Given the description of an element on the screen output the (x, y) to click on. 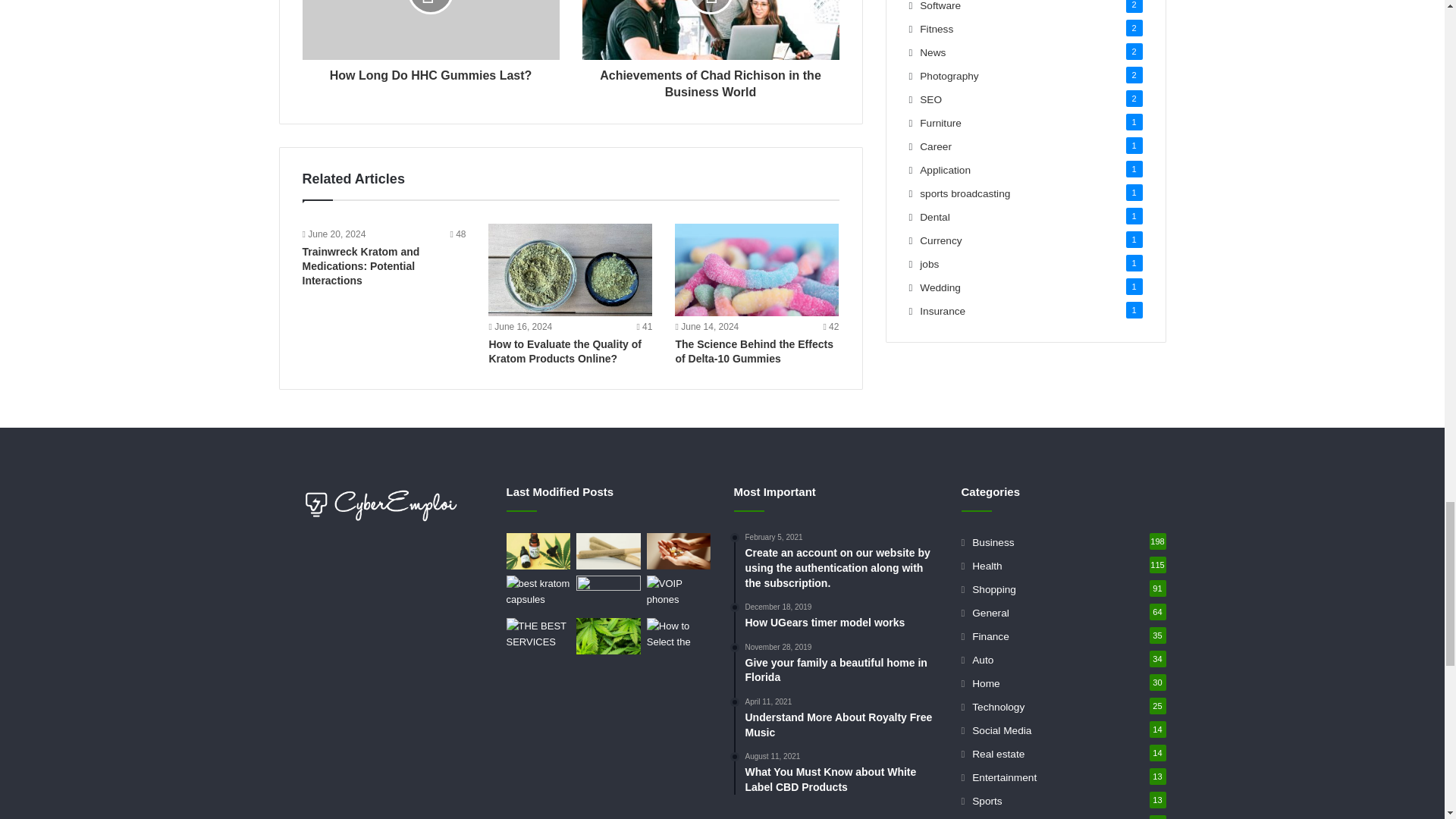
How to Evaluate the Quality of Kratom Products Online? (569, 269)
The Science Behind the Effects of Delta-10 Gummies (753, 351)
The Science Behind the Effects of Delta-10 Gummies (756, 269)
Trainwreck Kratom and Medications: Potential Interactions (360, 265)
How to Evaluate the Quality of Kratom Products Online? (563, 351)
